Given the description of an element on the screen output the (x, y) to click on. 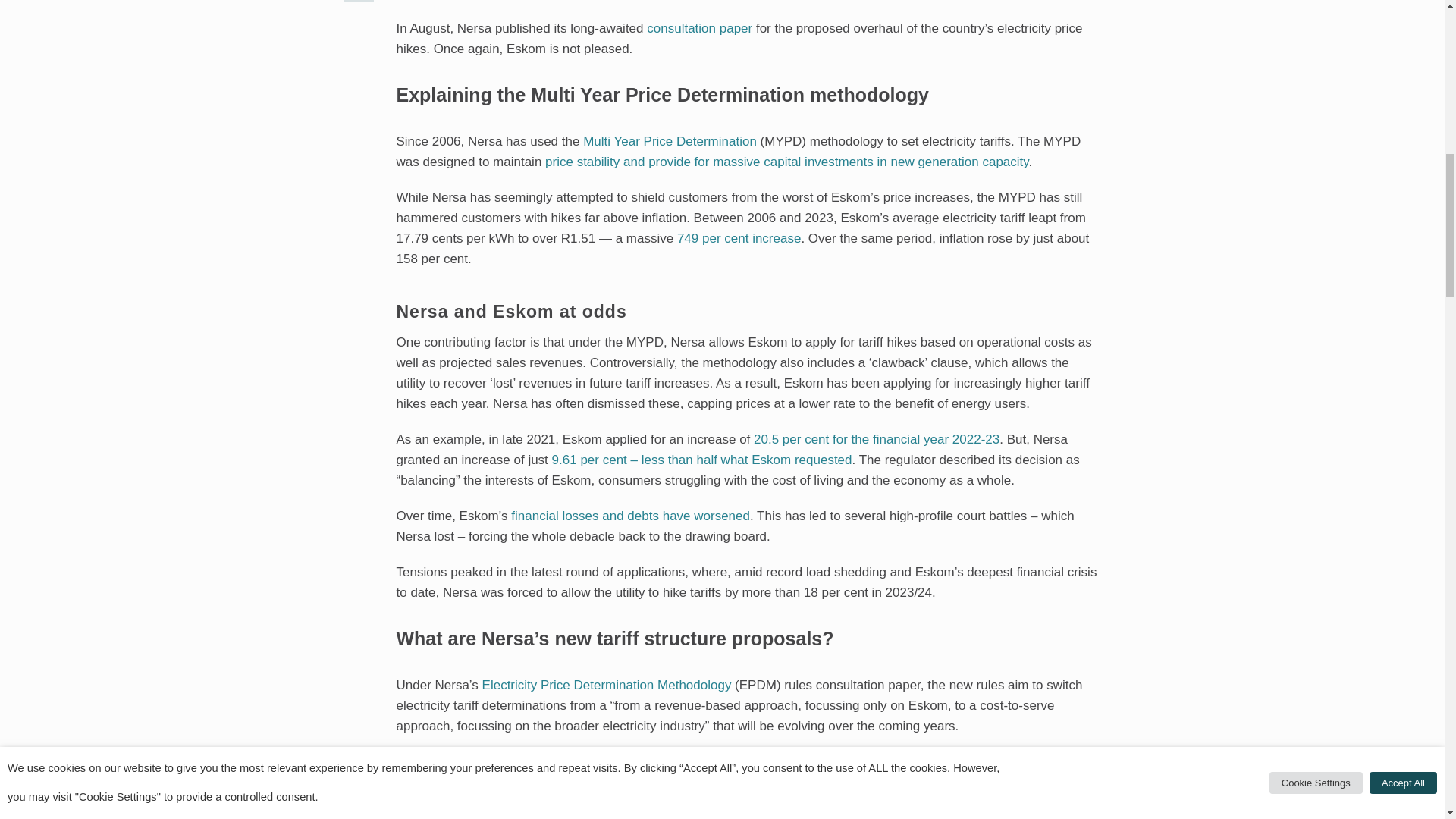
749 per cent increase (739, 237)
Multi Year Price Determination (670, 140)
consultation paper (699, 28)
20.5 per cent for the financial year 2022-23 (876, 439)
Electricity Price Determination Methodology (606, 685)
financial losses and debts have worsened (630, 514)
